Given the description of an element on the screen output the (x, y) to click on. 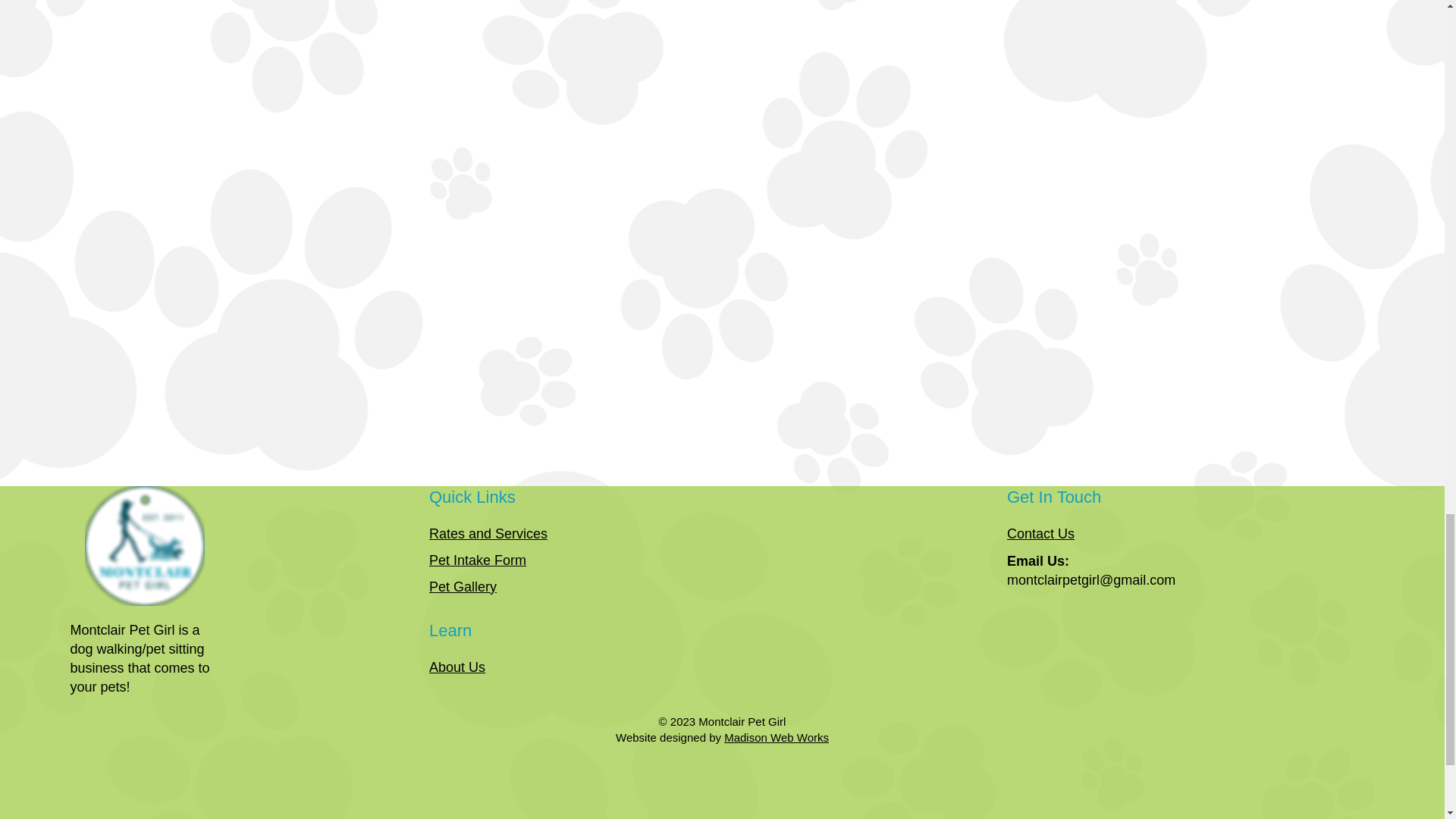
About Us (456, 667)
Pet Intake Form (477, 560)
Madison Web Works (775, 737)
Pet Gallery (462, 586)
Rates and Services (488, 533)
Contact Us (1040, 533)
